Given the description of an element on the screen output the (x, y) to click on. 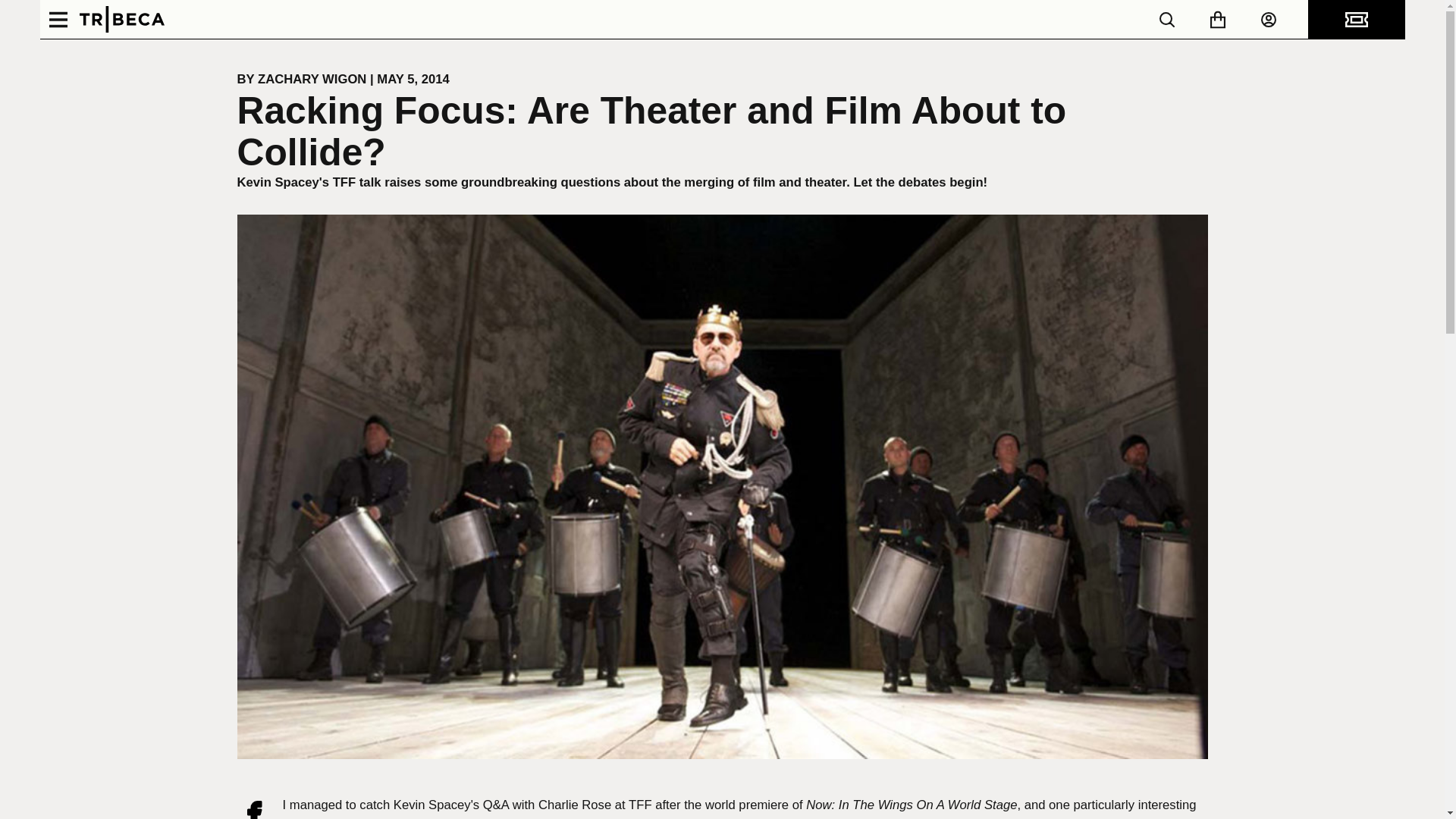
Now: In The Wings On A World Stage (911, 804)
